Given the description of an element on the screen output the (x, y) to click on. 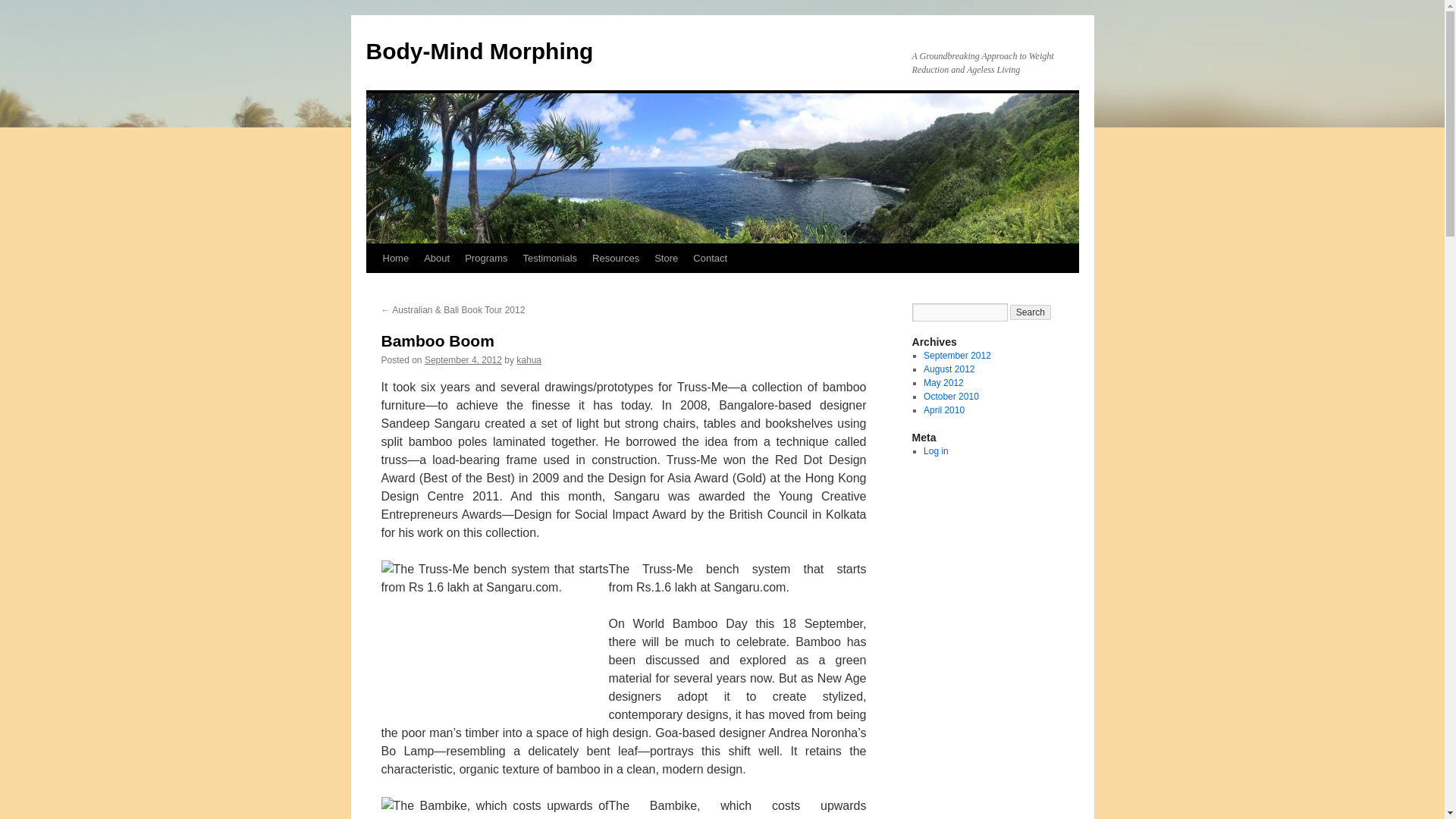
Search (1030, 312)
Resources (615, 258)
Body-Mind Morphing (478, 50)
Programs (486, 258)
Testimonials (550, 258)
About (436, 258)
7:42 am (463, 359)
Store (665, 258)
